Given the description of an element on the screen output the (x, y) to click on. 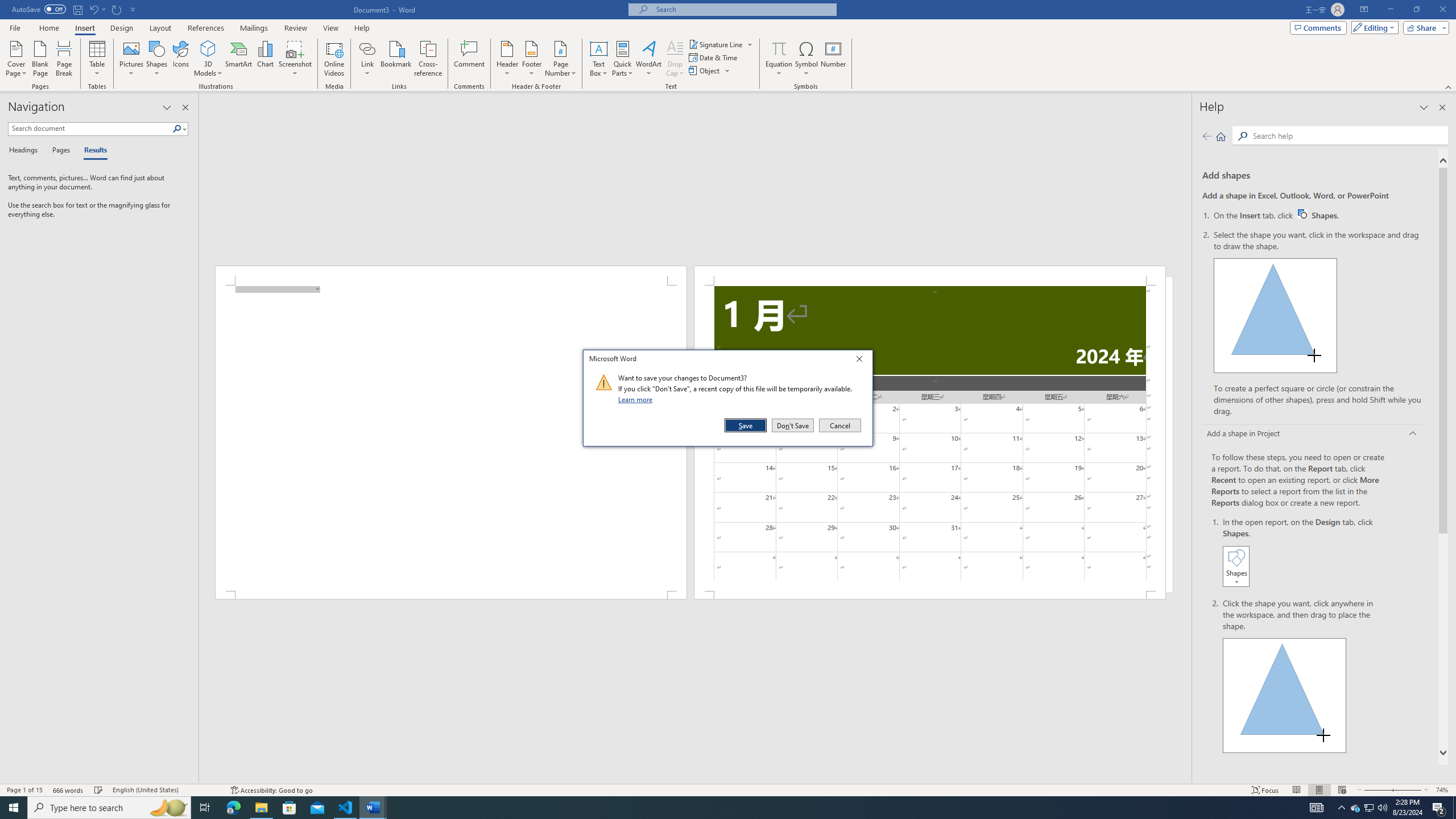
Zoom In (1403, 790)
Blank Page (40, 58)
Quick Parts (622, 58)
Collapse the Ribbon (1355, 807)
Table (1448, 86)
Search highlights icon opens search home window (97, 58)
Header (167, 807)
Equation (507, 58)
Repeat Doc Close (778, 58)
Header -Section 1- (117, 9)
Design (930, 275)
Object... (122, 28)
Mode (705, 69)
